Given the description of an element on the screen output the (x, y) to click on. 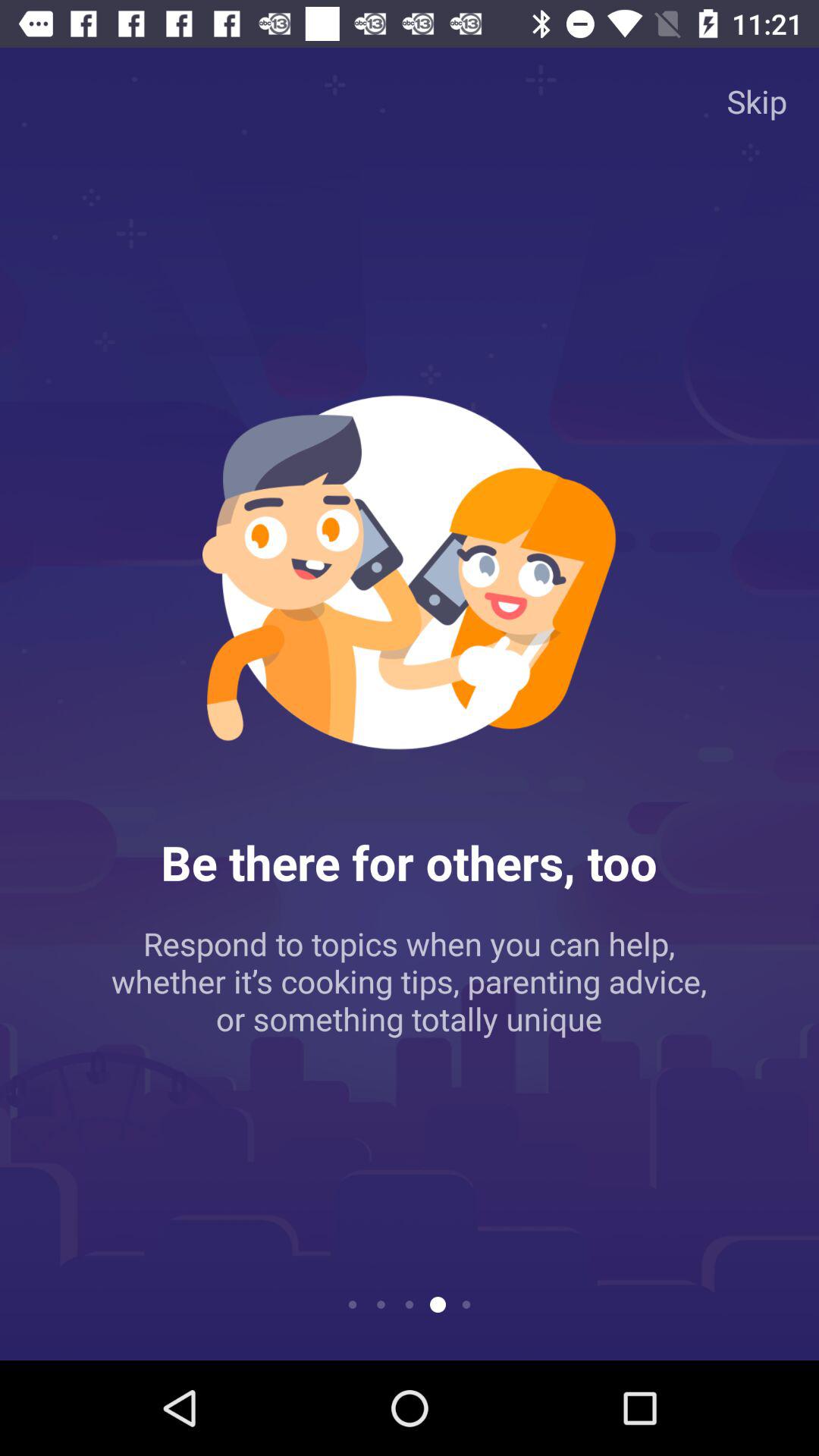
launch icon at the top right corner (756, 100)
